Given the description of an element on the screen output the (x, y) to click on. 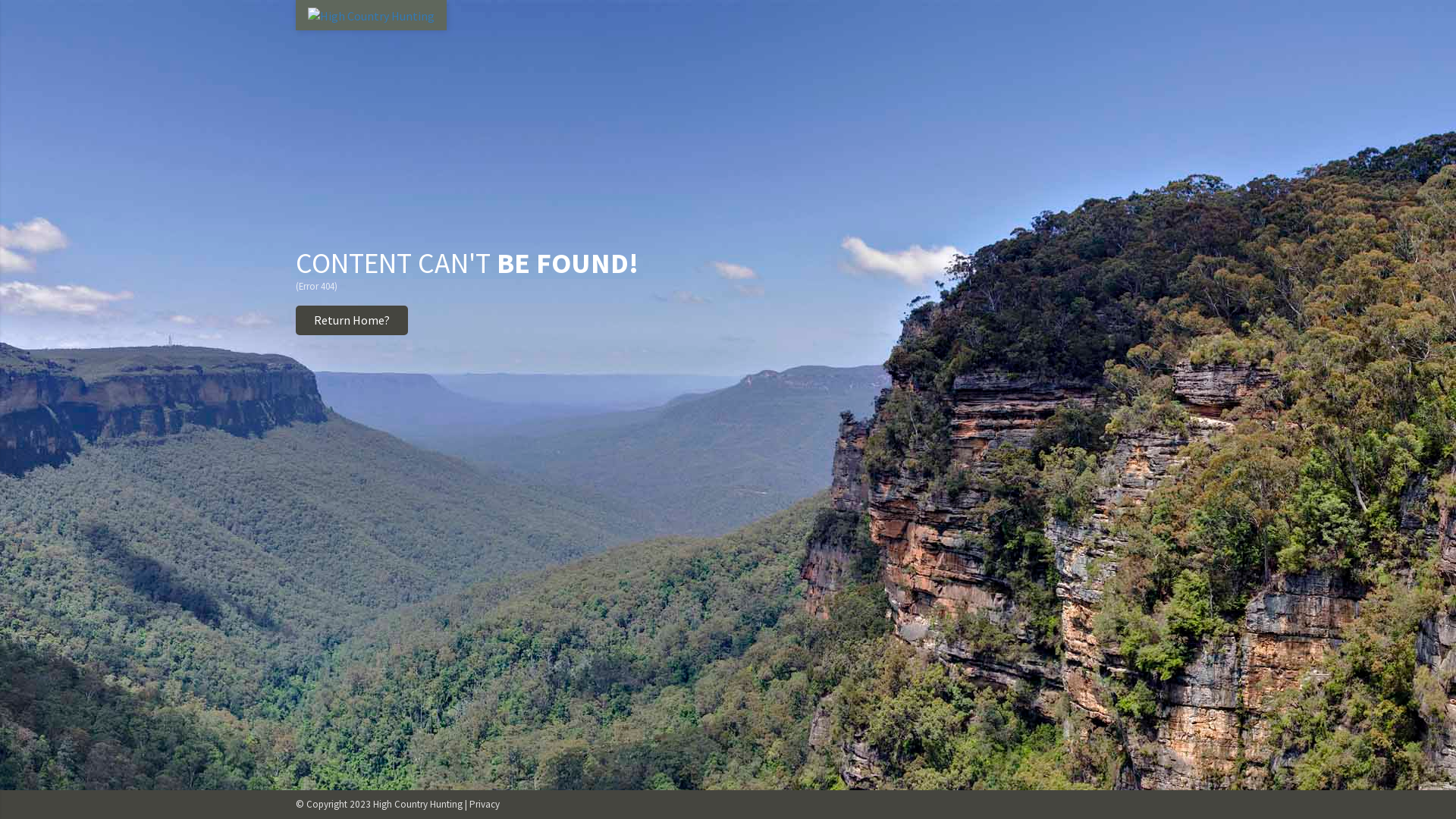
Privacy Element type: text (484, 803)
Return Home? Element type: text (351, 320)
